Given the description of an element on the screen output the (x, y) to click on. 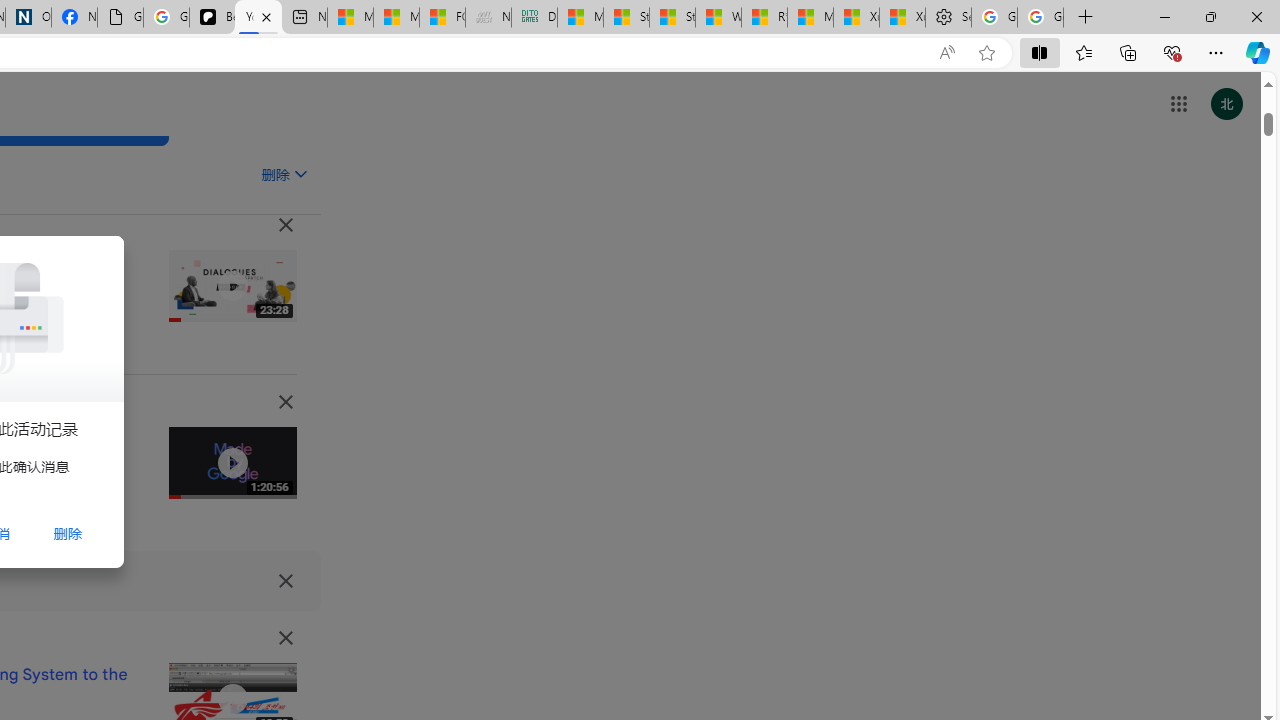
R******* | Trusted Community Engagement and Contributions (764, 17)
FOX News - MSN (441, 17)
Class: asE2Ub NMm5M (299, 173)
